Given the description of an element on the screen output the (x, y) to click on. 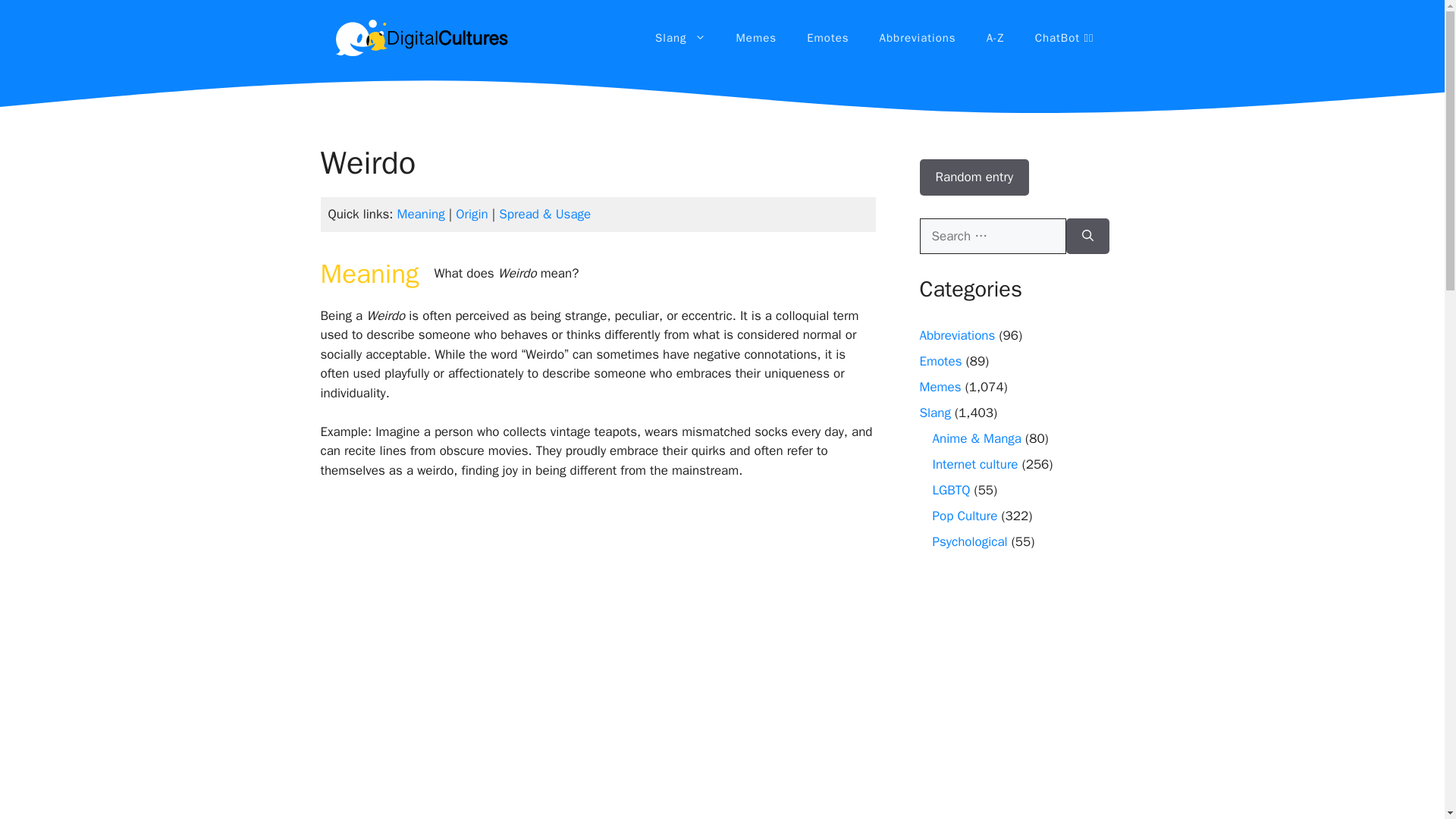
A-Z (995, 37)
Emotes (939, 360)
Random entry (973, 176)
Abbreviations (956, 335)
Slang (934, 412)
Memes (756, 37)
Abbreviations (917, 37)
Slang (680, 37)
Random entry (973, 176)
Internet culture (975, 464)
